Given the description of an element on the screen output the (x, y) to click on. 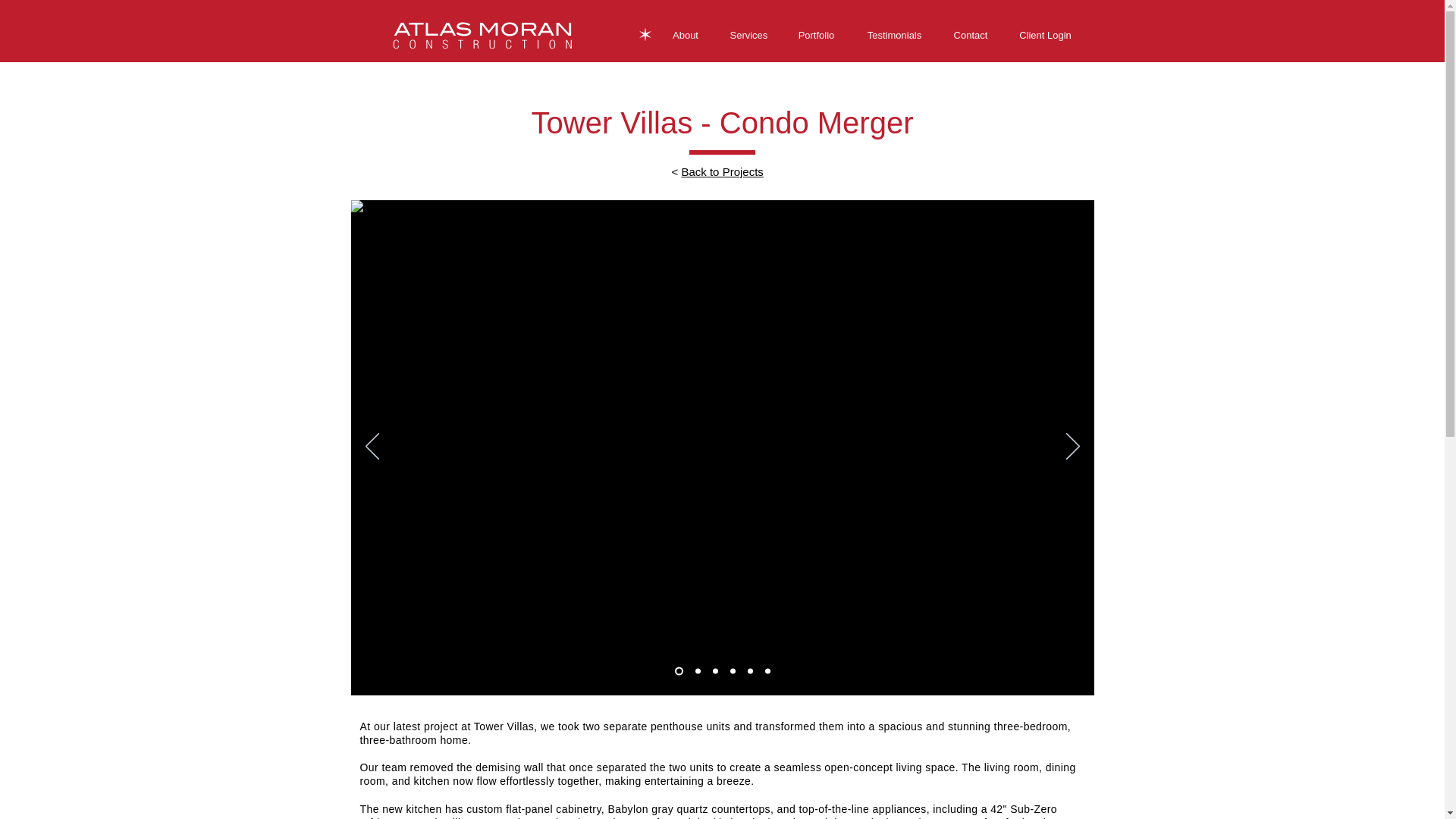
Client Login (1045, 35)
Portfolio (815, 35)
Services (747, 35)
Testimonials (893, 35)
About (685, 35)
Contact (970, 35)
Back to Projects (721, 171)
